Given the description of an element on the screen output the (x, y) to click on. 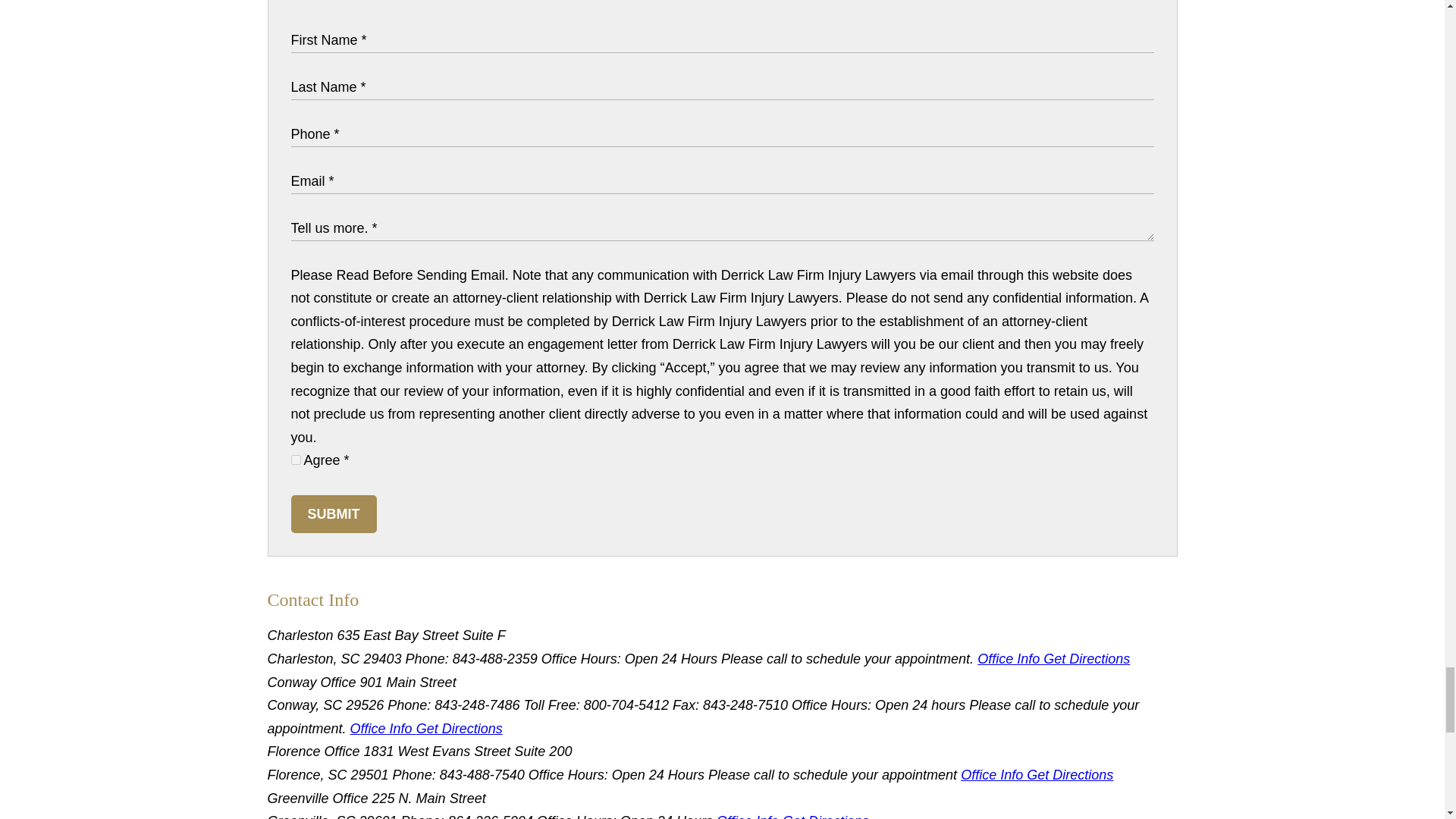
Agree (296, 460)
